Given the description of an element on the screen output the (x, y) to click on. 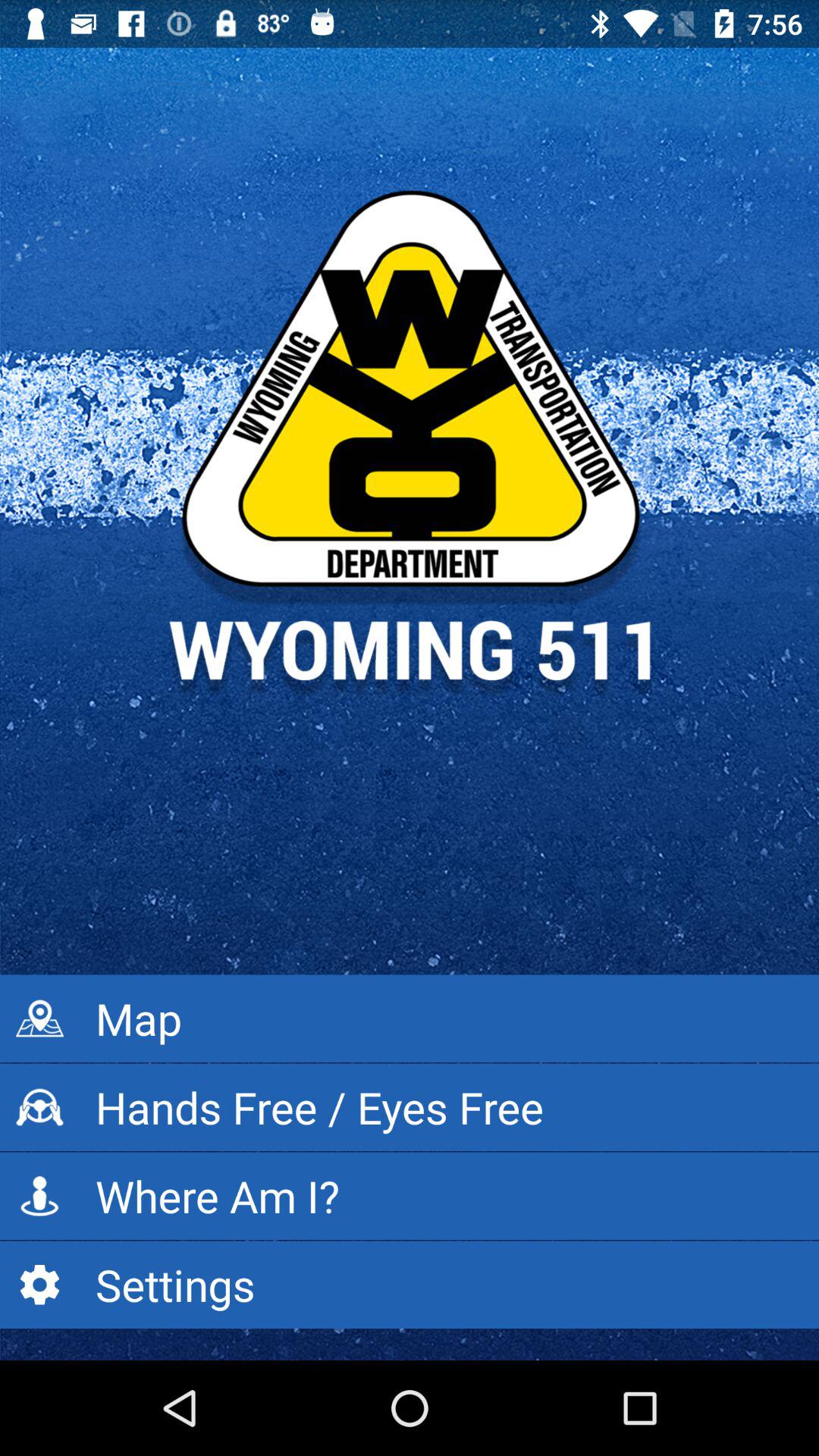
scroll to the where am i? (409, 1195)
